Given the description of an element on the screen output the (x, y) to click on. 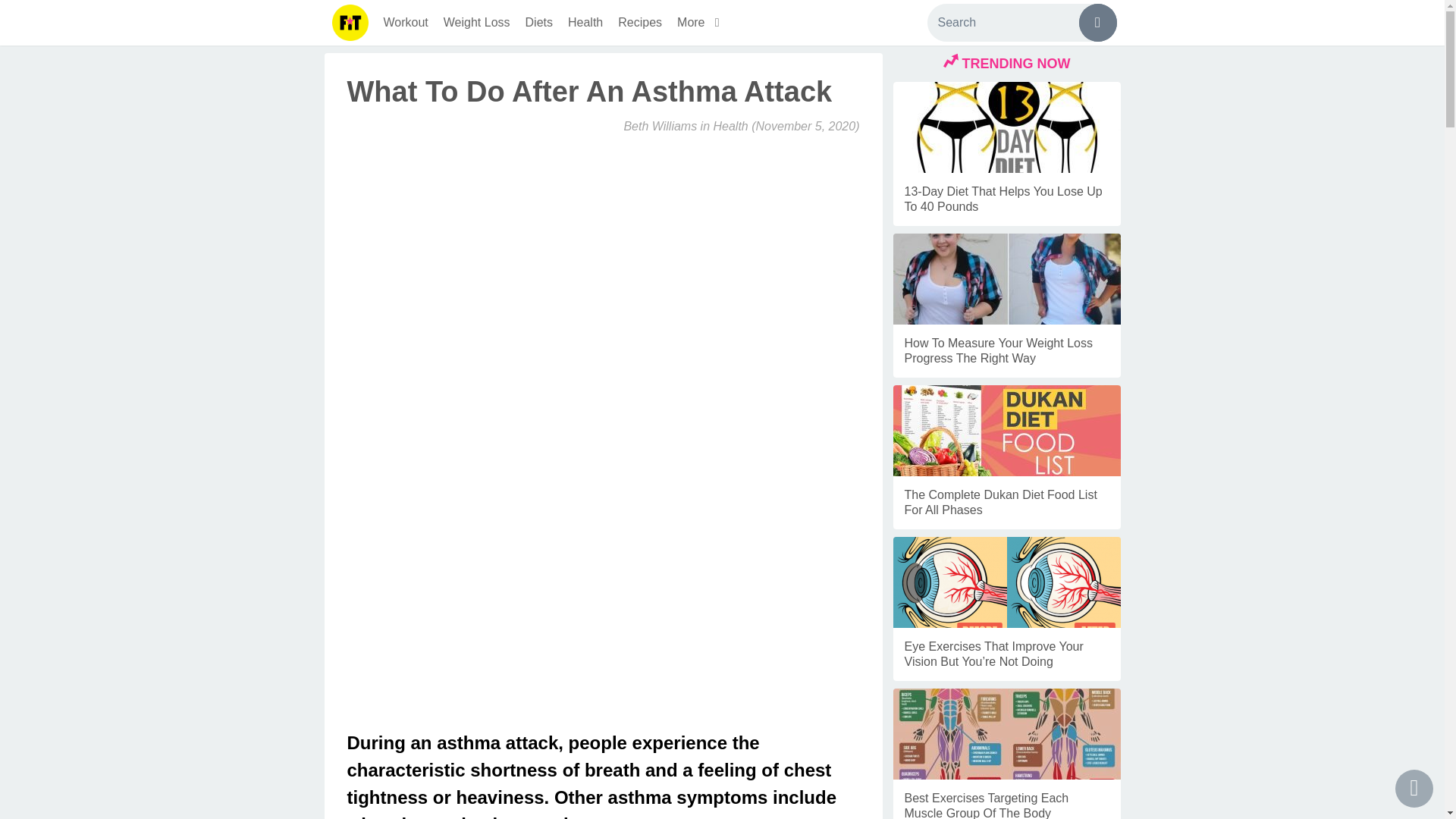
Diets (539, 22)
More (701, 22)
Weight Loss (476, 22)
Posts by Beth Williams (660, 125)
Health (585, 22)
Search (1021, 22)
Workout (405, 22)
Recipes (639, 22)
Beth Williams (660, 125)
Health (730, 125)
